Given the description of an element on the screen output the (x, y) to click on. 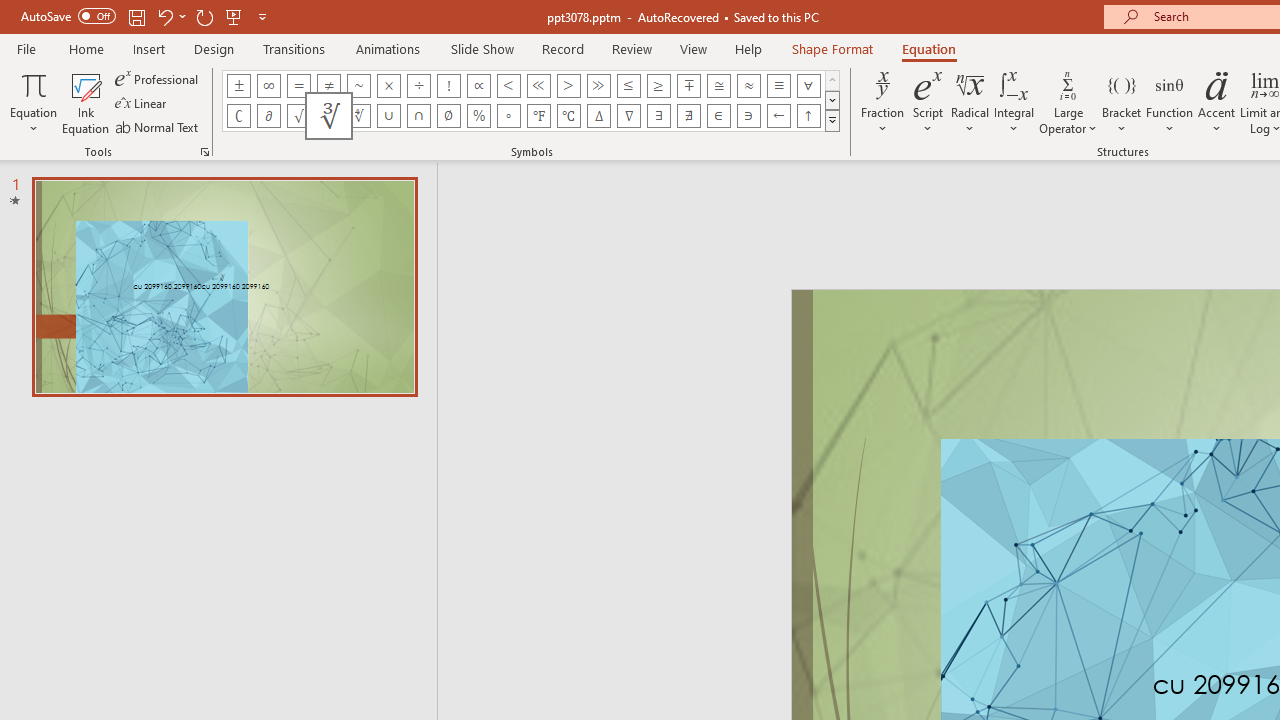
Equation Symbol Infinity (268, 85)
Equation (33, 102)
Equation Symbol Greater Than or Equal To (658, 85)
Equation Symbol Less Than (508, 85)
Accent (1216, 102)
Equation Symbol Union (388, 115)
Large Operator (1067, 102)
Equation Symbol There Does Not Exist (689, 115)
Equation Symbol There Exists (658, 115)
Professional (158, 78)
